Given the description of an element on the screen output the (x, y) to click on. 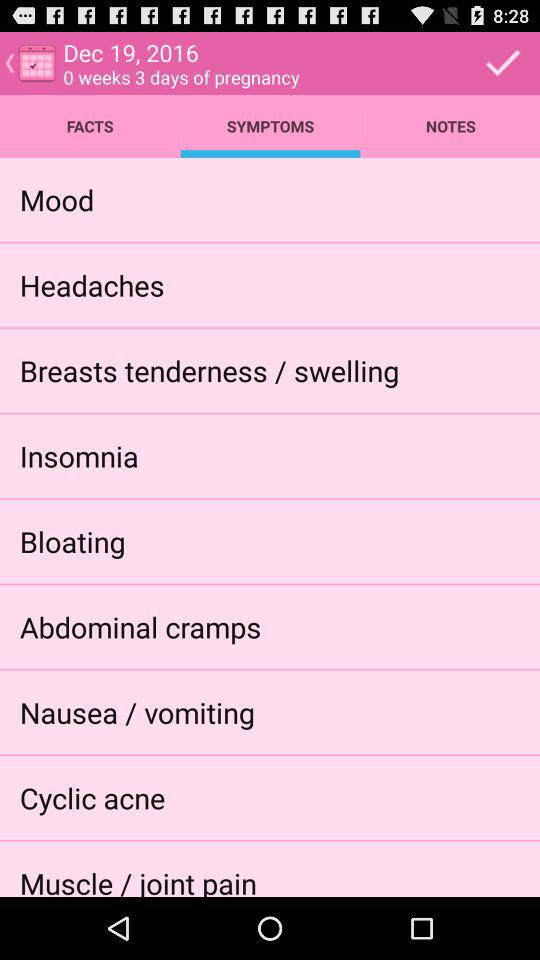
tap the item above bloating (78, 455)
